Given the description of an element on the screen output the (x, y) to click on. 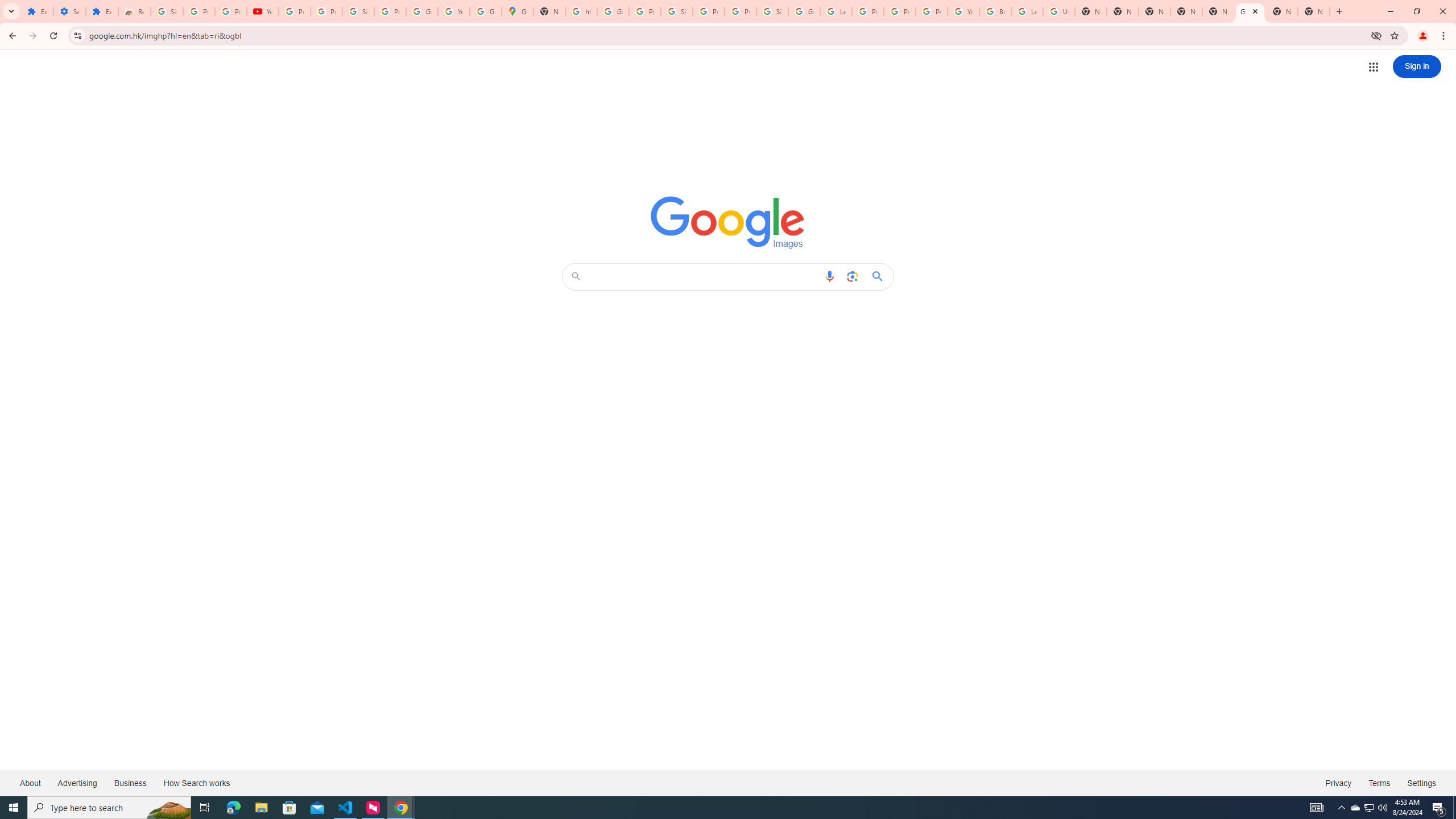
Extensions (37, 11)
Google Images (1249, 11)
